Given the description of an element on the screen output the (x, y) to click on. 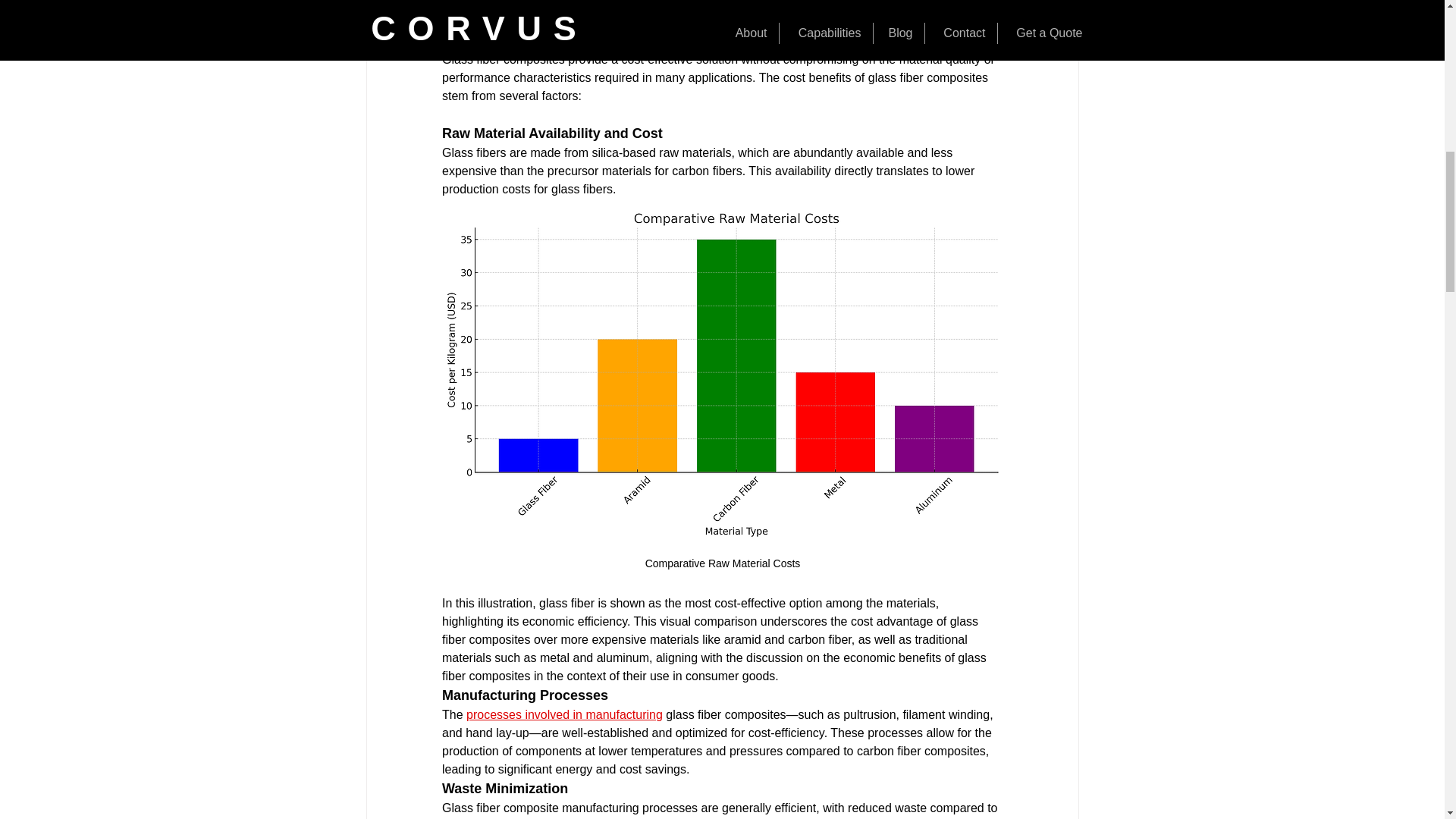
processes involved in manufacturing (563, 714)
